Given the description of an element on the screen output the (x, y) to click on. 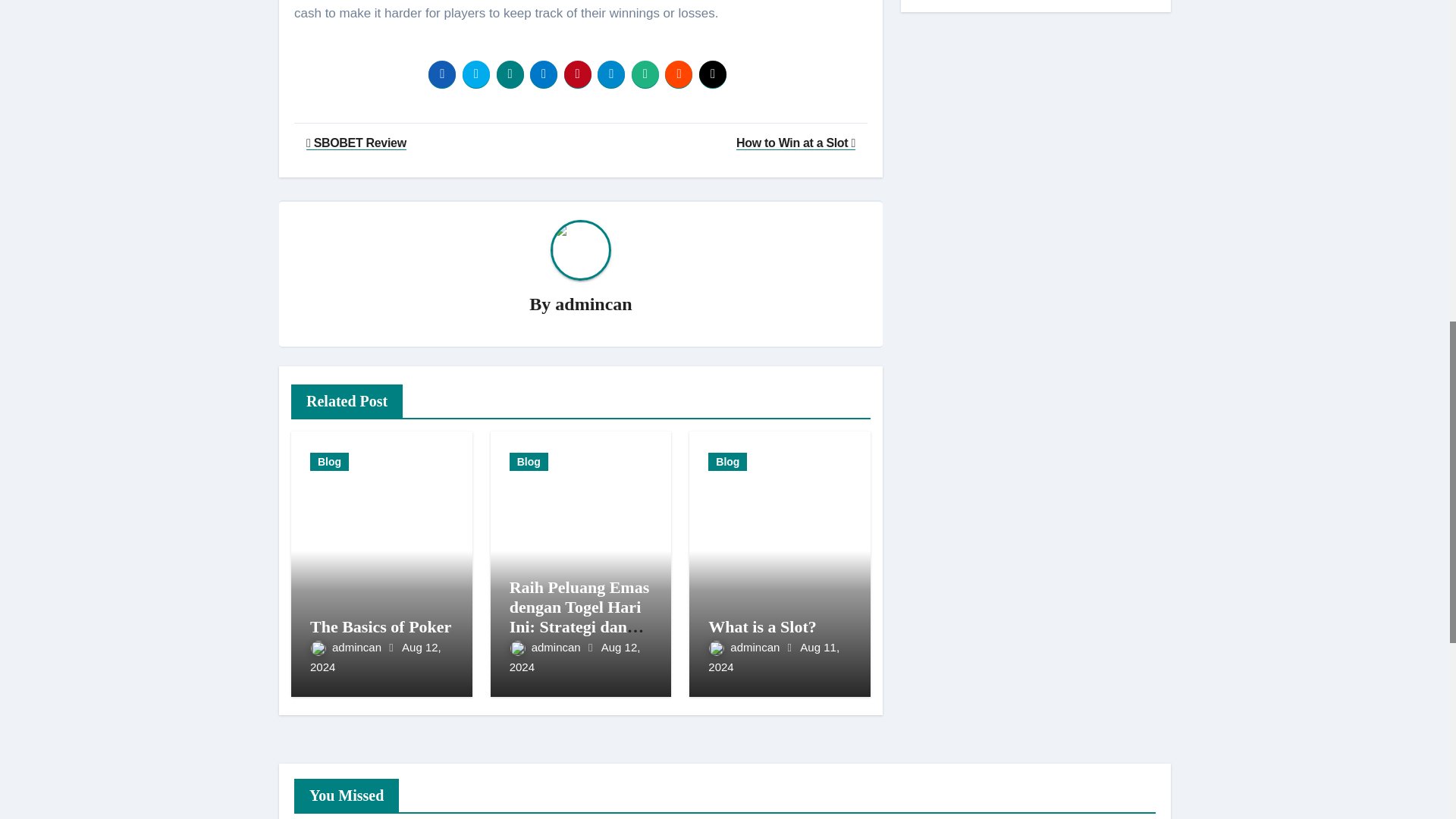
Permalink to: What is a Slot? (761, 626)
Permalink to: The Basics of Poker (380, 626)
